Given the description of an element on the screen output the (x, y) to click on. 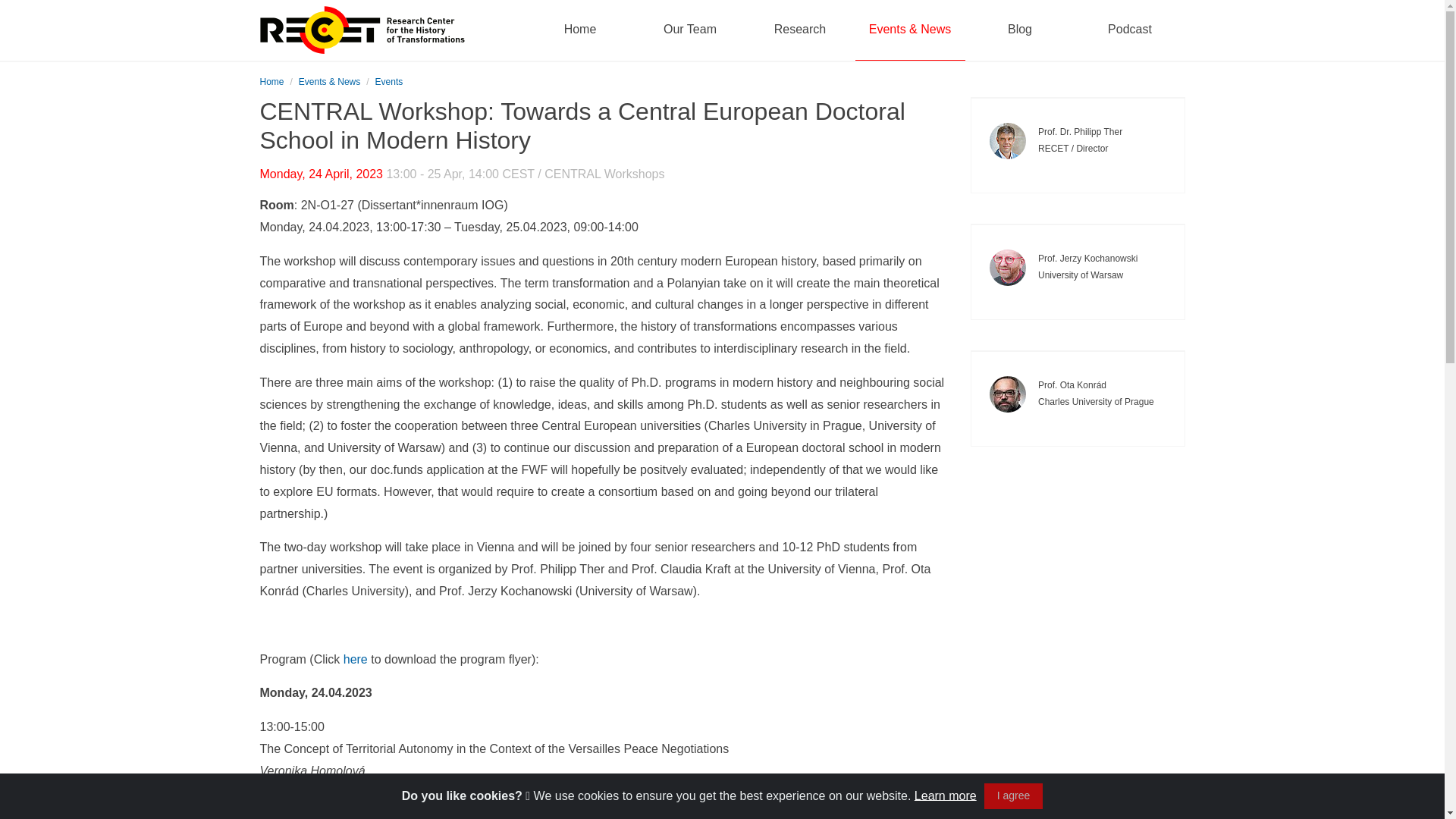
Blog (1018, 29)
Our Team (689, 29)
Research (799, 29)
I agree (1013, 795)
Prof. Jerzy Kochanowski (1008, 267)
Home (271, 81)
Home (579, 29)
Learn more (945, 794)
Podcast (1130, 29)
Events (389, 81)
Our Team (689, 29)
Transformative Blog (1018, 29)
here (357, 658)
Transformative Podcast (1130, 29)
Prof. Dr. Philipp Ther (1008, 140)
